Given the description of an element on the screen output the (x, y) to click on. 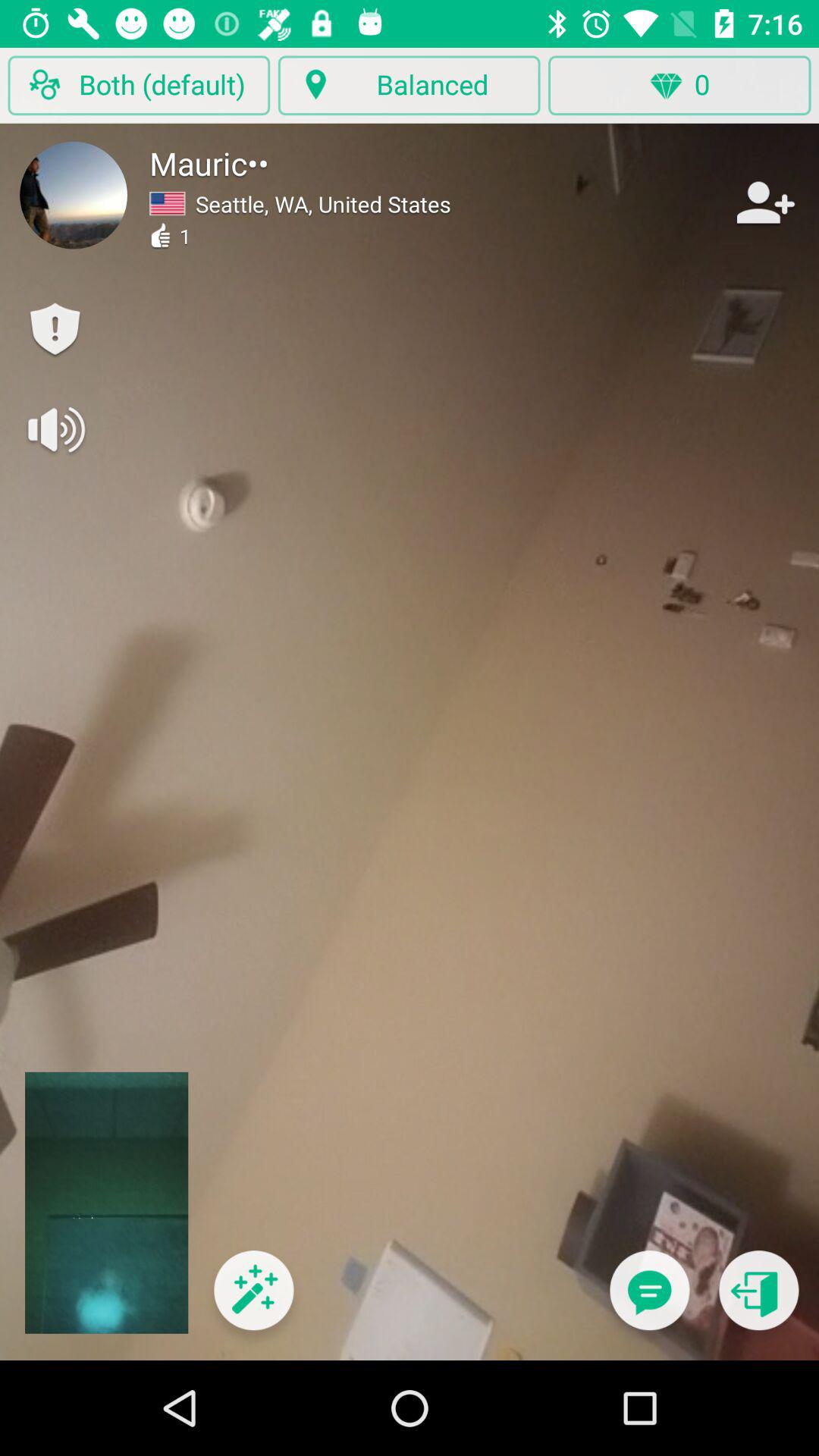
volume (55, 429)
